Given the description of an element on the screen output the (x, y) to click on. 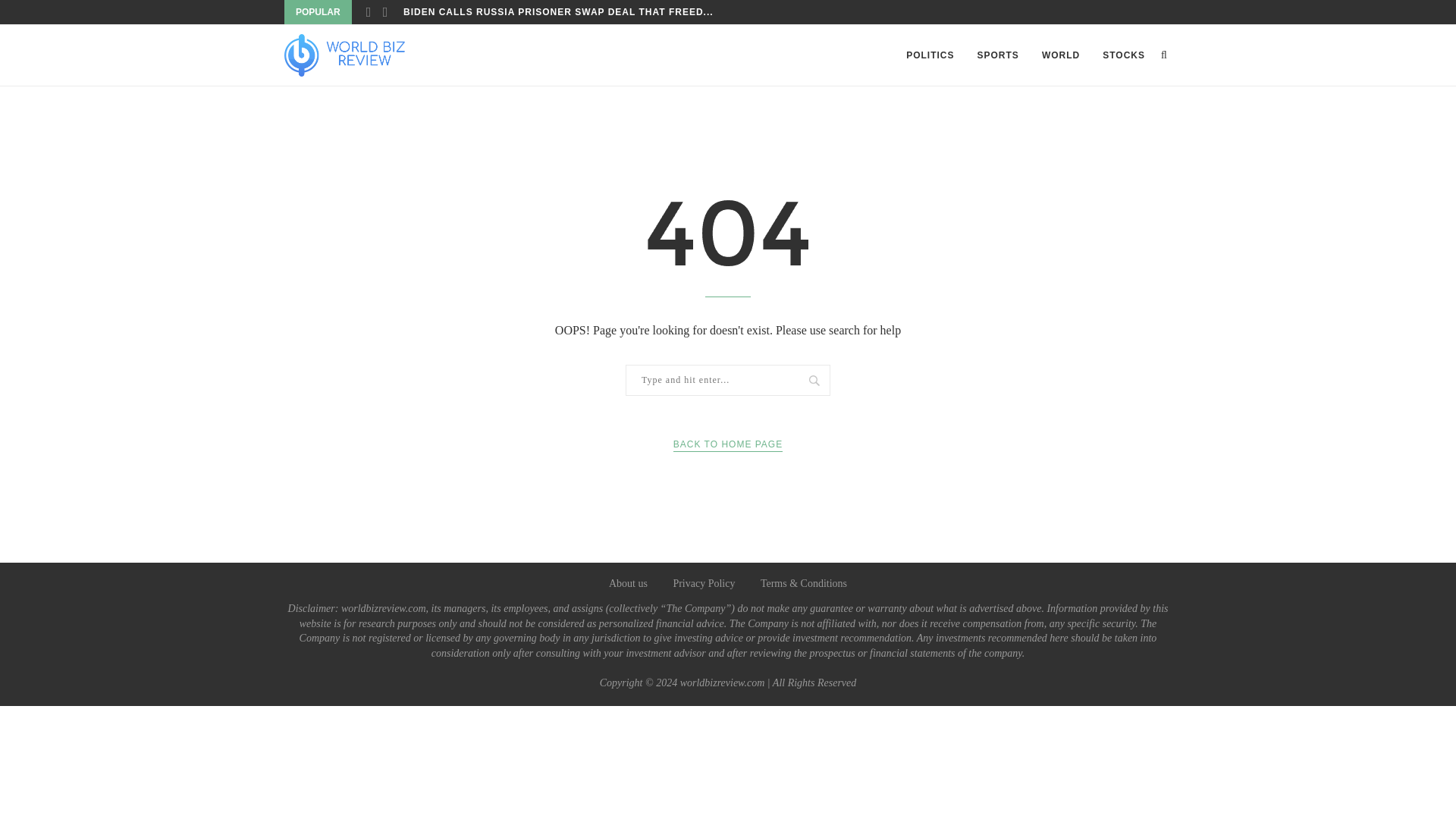
BACK TO HOME PAGE (727, 444)
BIDEN CALLS RUSSIA PRISONER SWAP DEAL THAT FREED... (558, 12)
Privacy Policy (703, 583)
About us (627, 583)
